Given the description of an element on the screen output the (x, y) to click on. 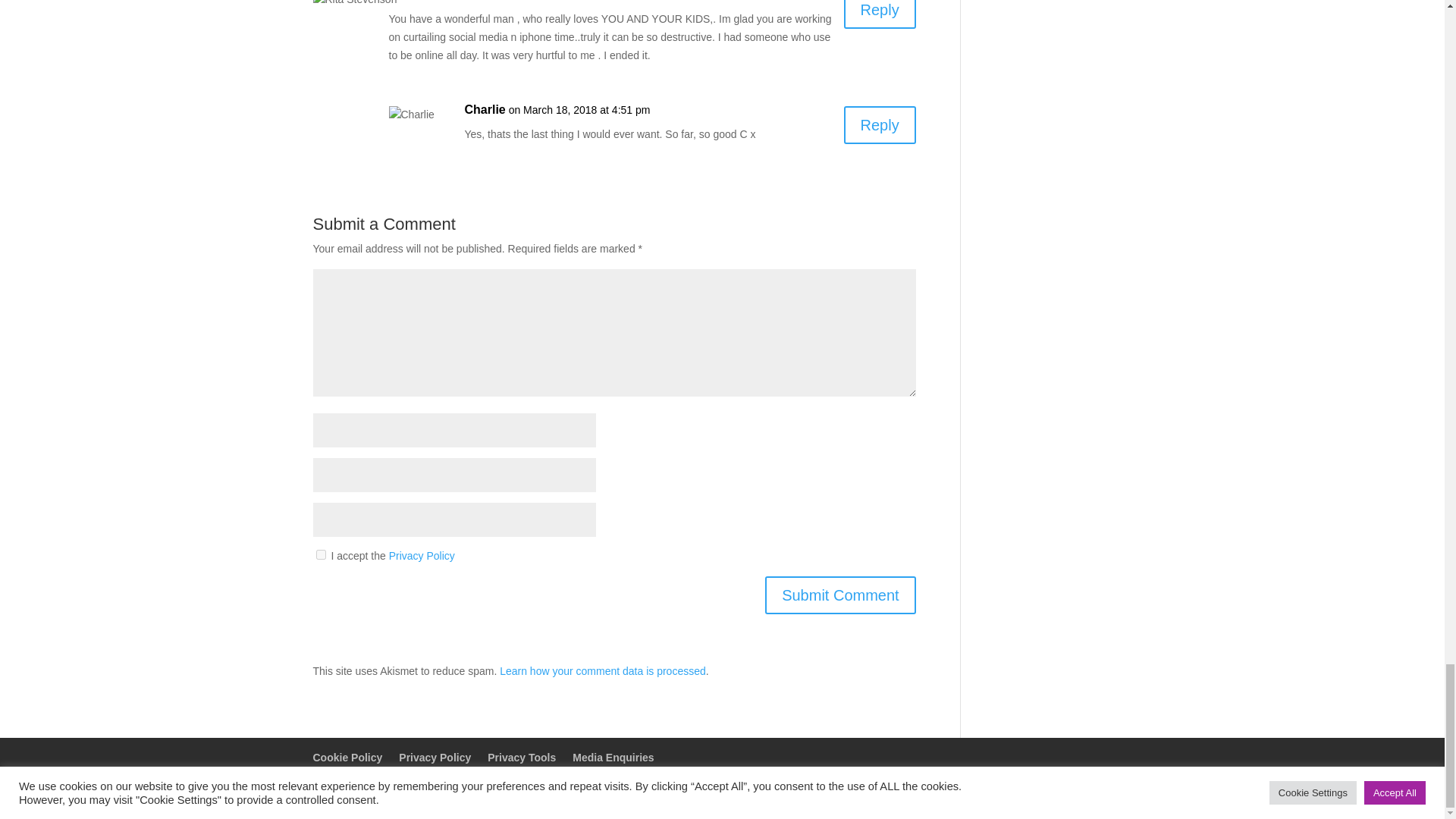
1 (319, 554)
Submit Comment (840, 595)
Reply (879, 14)
